Given the description of an element on the screen output the (x, y) to click on. 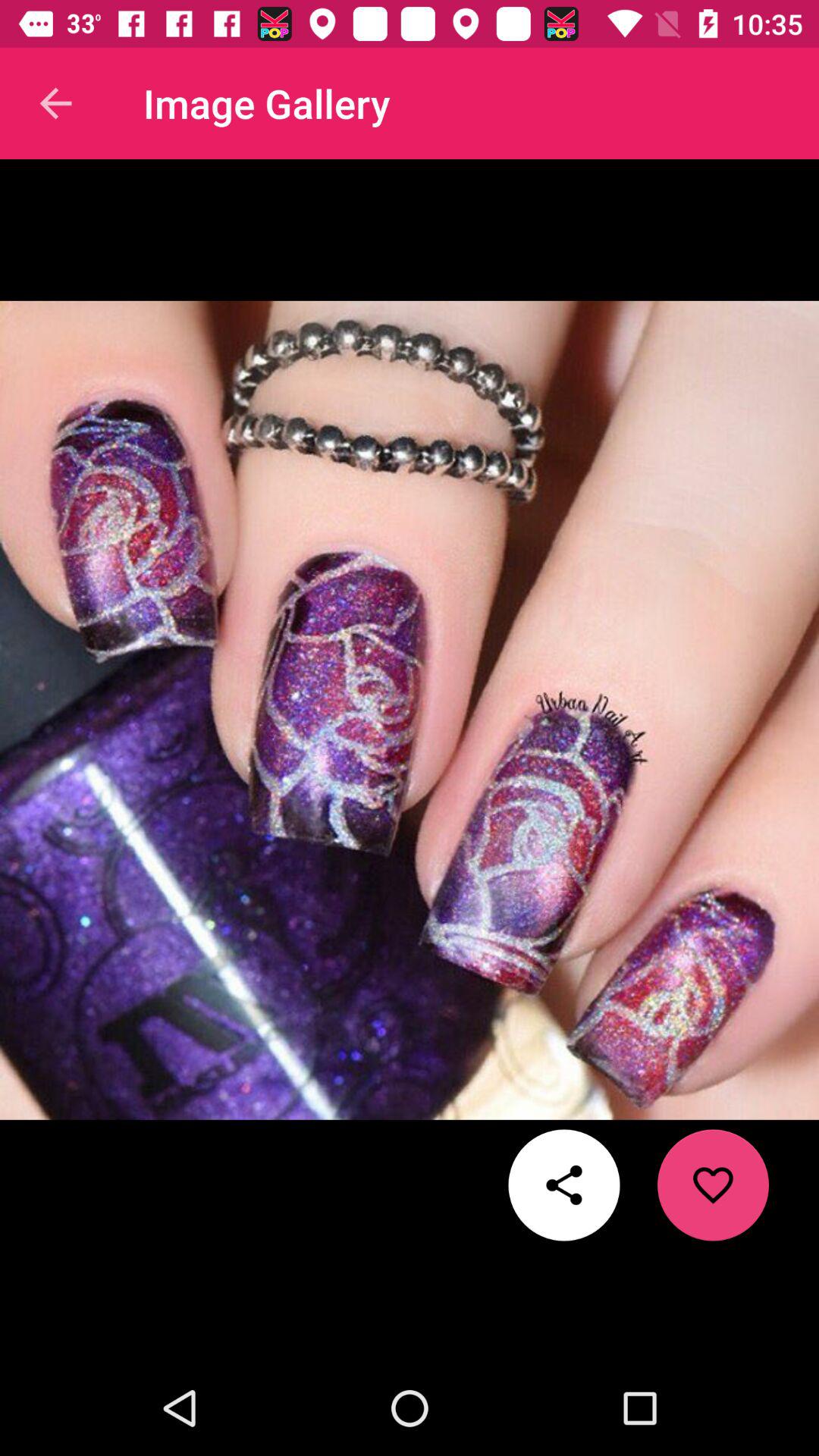
press the icon next to the image gallery icon (55, 103)
